Given the description of an element on the screen output the (x, y) to click on. 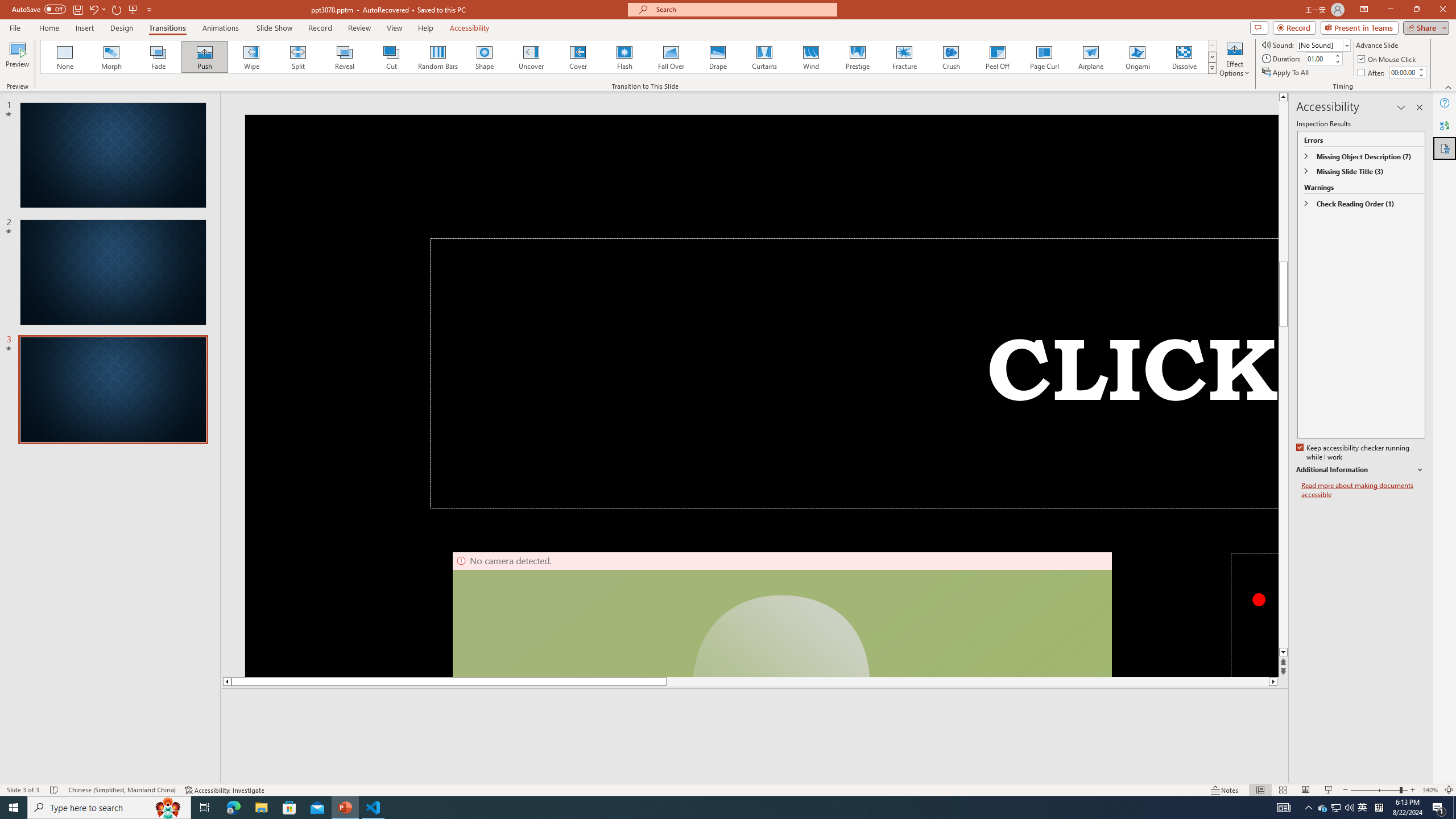
Prestige (857, 56)
